Given the description of an element on the screen output the (x, y) to click on. 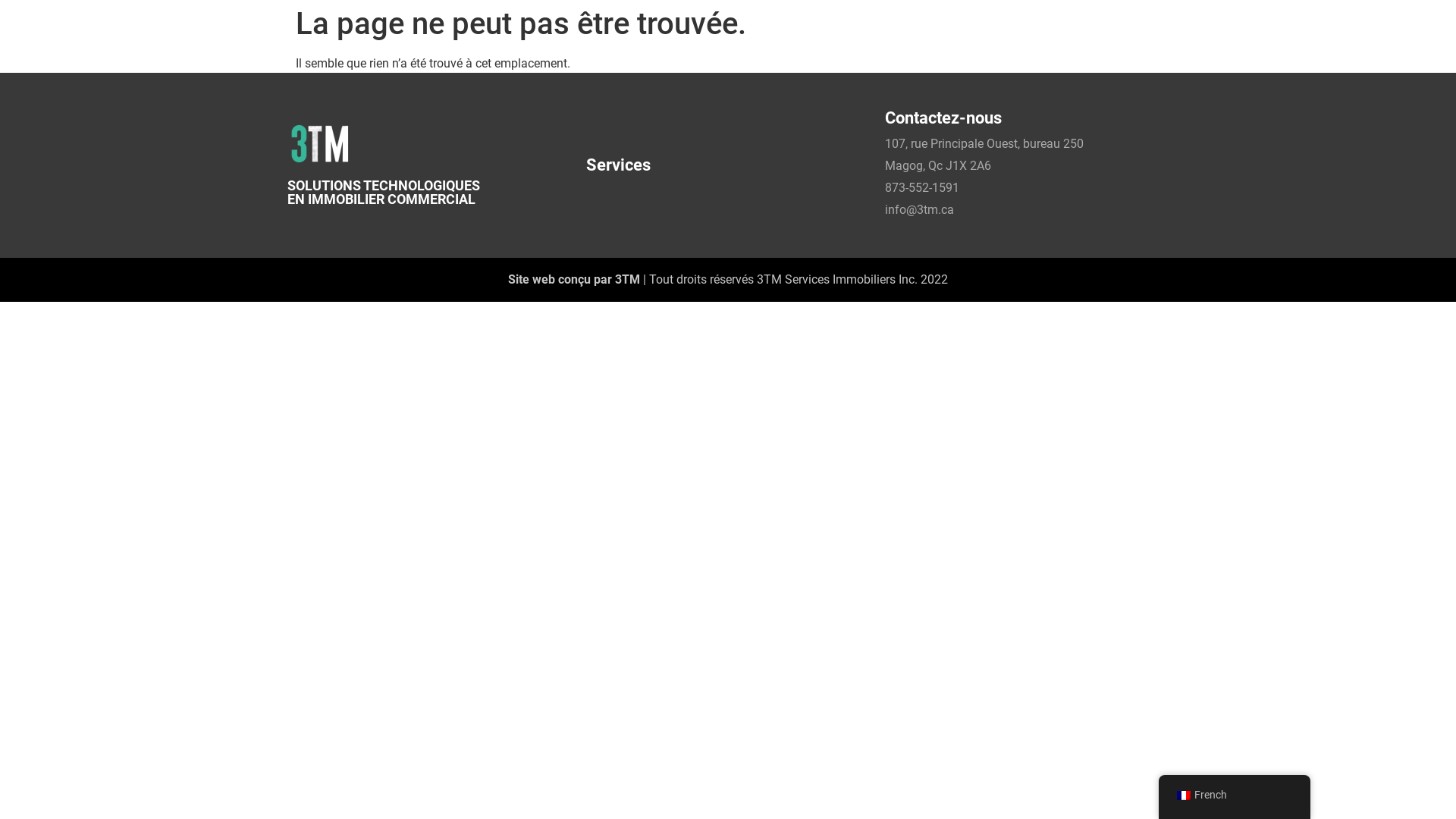
French Element type: text (1234, 795)
French Element type: hover (1183, 795)
